Given the description of an element on the screen output the (x, y) to click on. 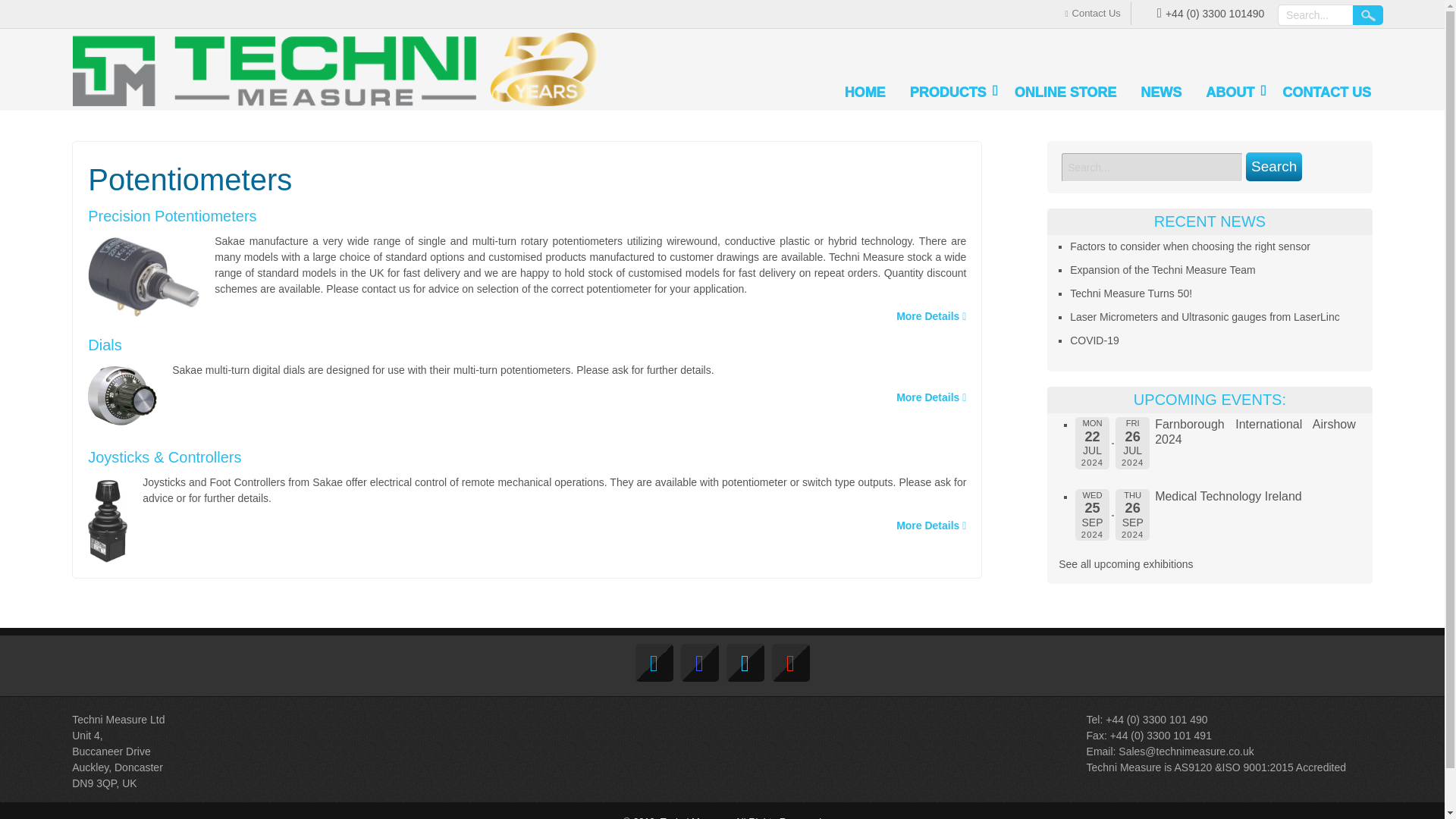
Laser Micrometers and Ultrasonic gauges from LaserLinc (1204, 316)
NEWS (1160, 93)
CONTACT US (1326, 93)
Contact Us (1091, 13)
More Details (931, 525)
More Details (931, 397)
Farnborough International Airshow 2024 (1254, 431)
Precision Potentiometers (171, 216)
Search (1367, 14)
Expansion of the Techni Measure Team (1162, 269)
ONLINE STORE (1065, 93)
Dials (103, 344)
Dials (103, 344)
Precision Potentiometers (171, 216)
Factors to consider when choosing the right sensor (1190, 246)
